Given the description of an element on the screen output the (x, y) to click on. 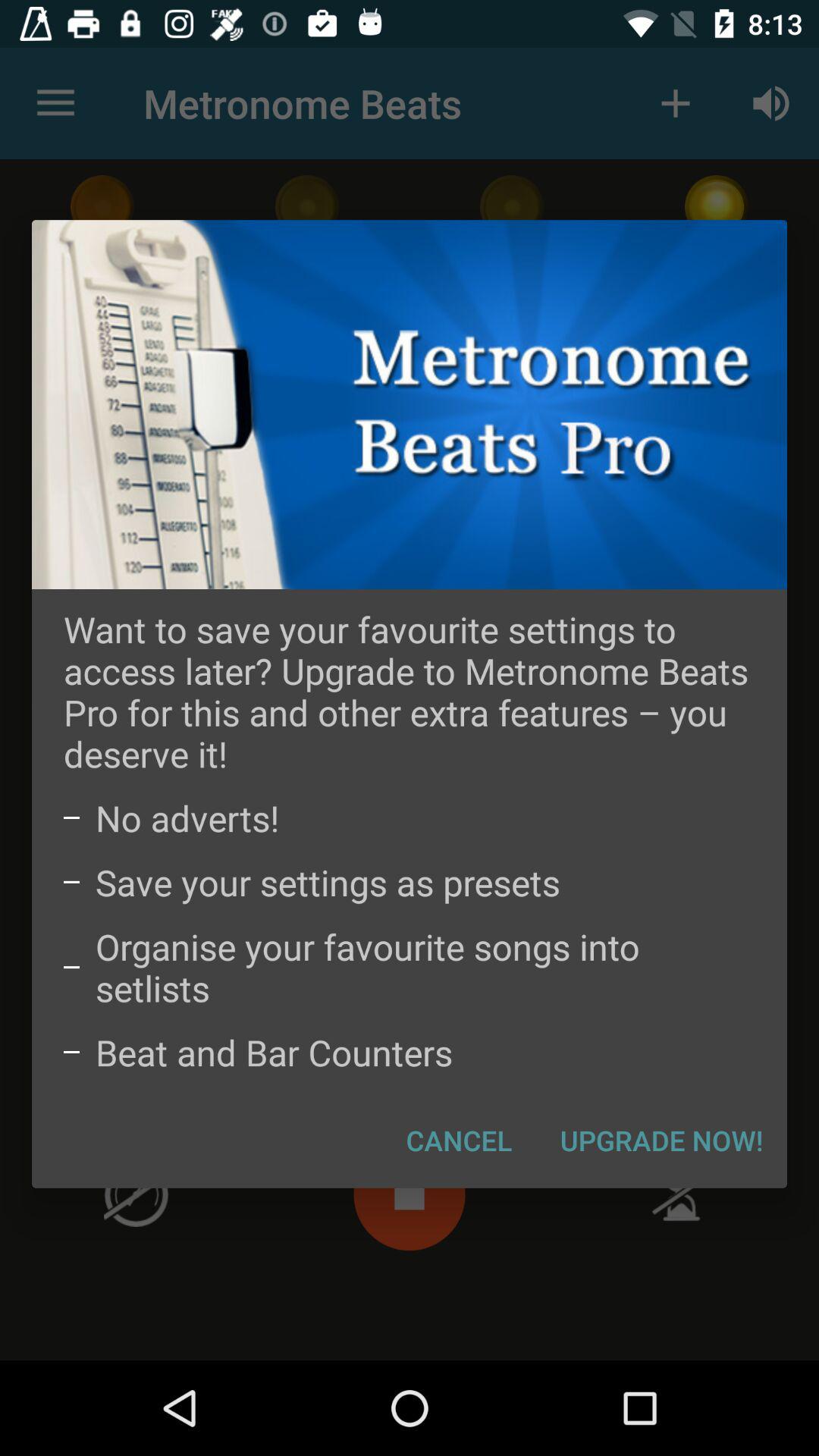
open icon above the want to save icon (409, 404)
